Given the description of an element on the screen output the (x, y) to click on. 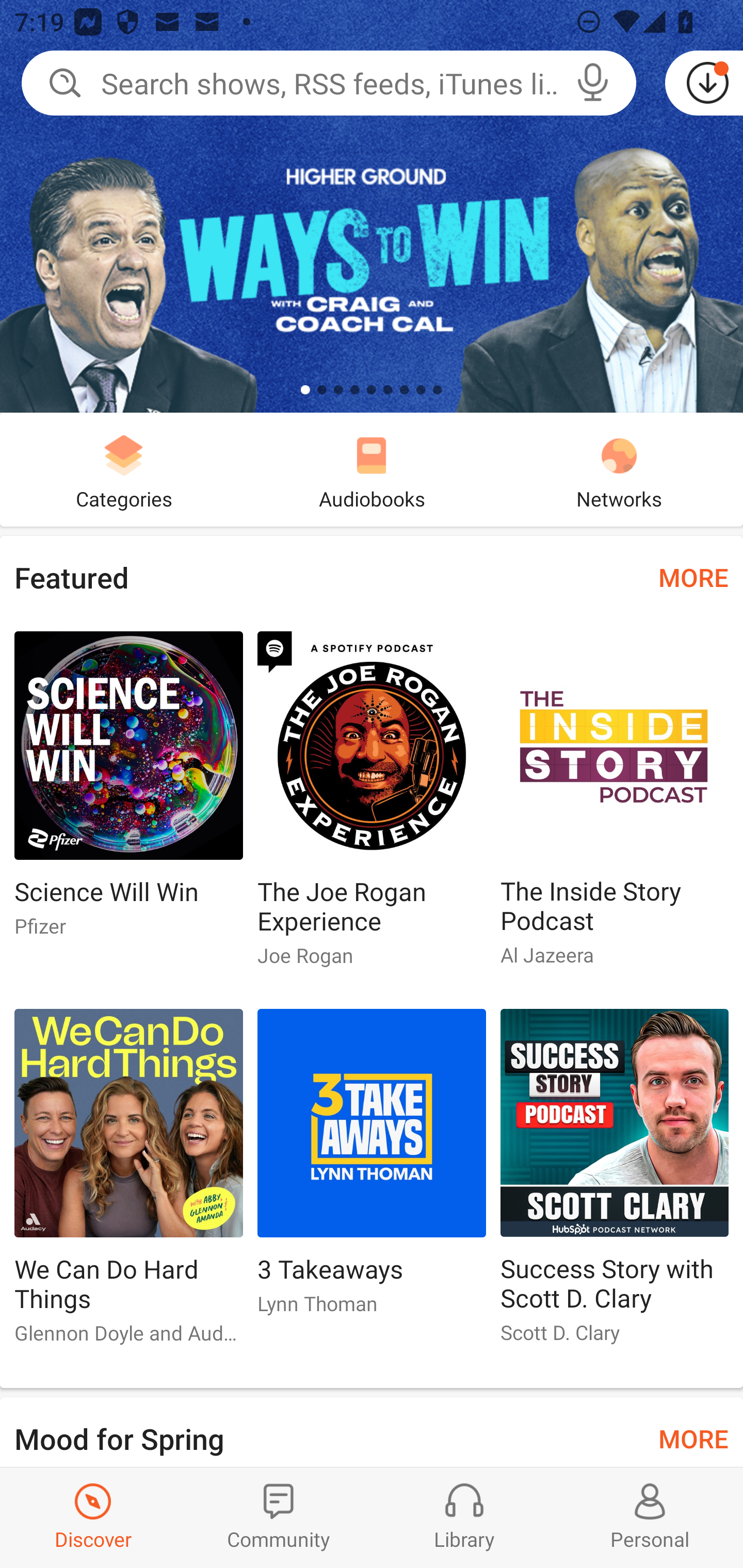
Ways To Win (371, 206)
Categories (123, 469)
Audiobooks (371, 469)
Networks (619, 469)
MORE (693, 576)
Science Will Win Science Will Win Pfizer (128, 792)
3 Takeaways 3 Takeaways Lynn Thoman (371, 1169)
MORE (693, 1436)
Discover (92, 1517)
Community (278, 1517)
Library (464, 1517)
Profiles and Settings Personal (650, 1517)
